Given the description of an element on the screen output the (x, y) to click on. 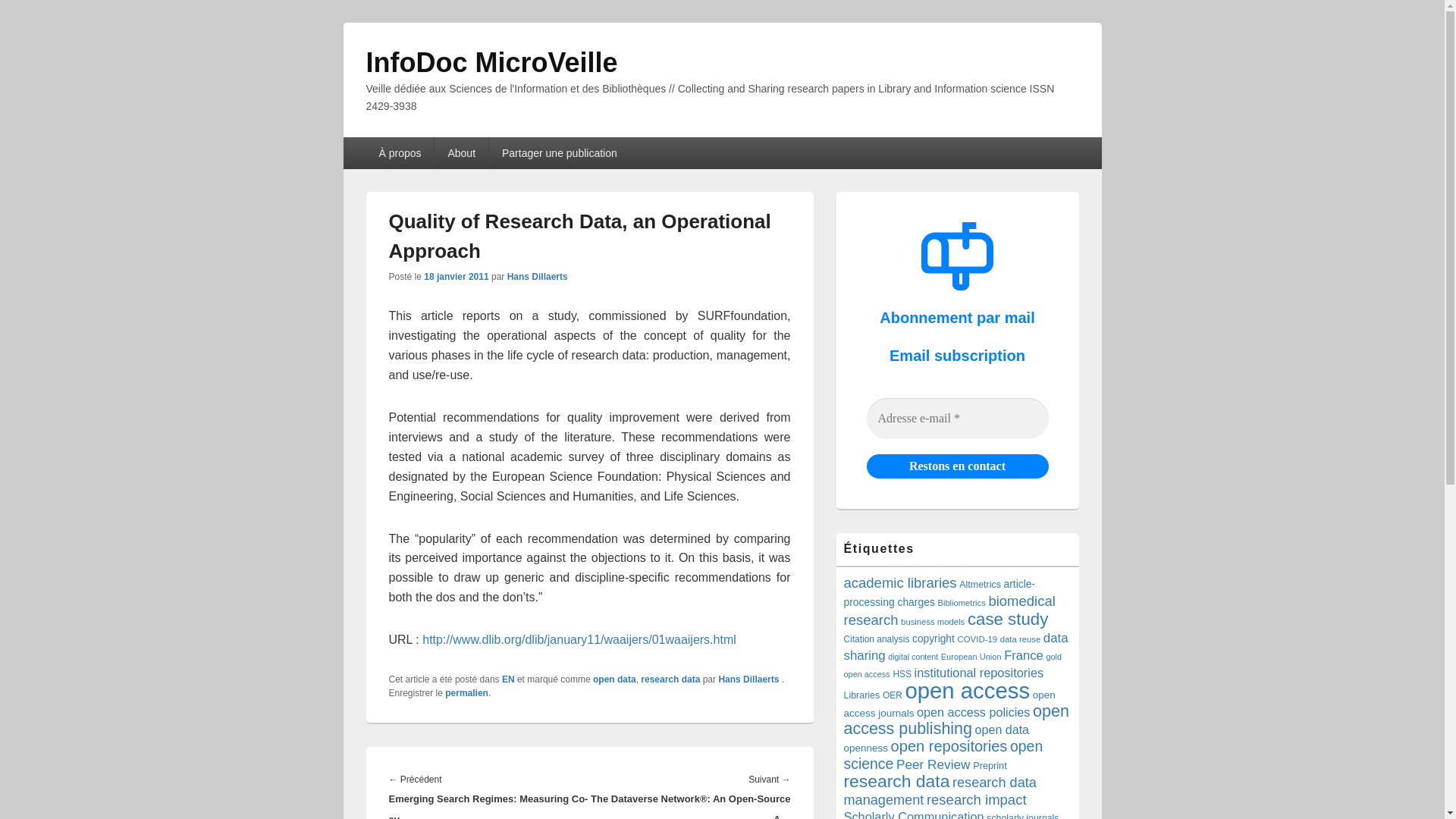
open data (614, 679)
gold open access (952, 664)
digital content (912, 655)
biomedical research (948, 610)
Restons en contact (957, 466)
Libraries (861, 695)
17 h 11 min (455, 276)
data reuse (1020, 638)
HSS (901, 674)
permalien (466, 692)
open access policies (973, 712)
Partager une publication (559, 152)
institutional repositories (978, 672)
article-processing charges (939, 593)
